Given the description of an element on the screen output the (x, y) to click on. 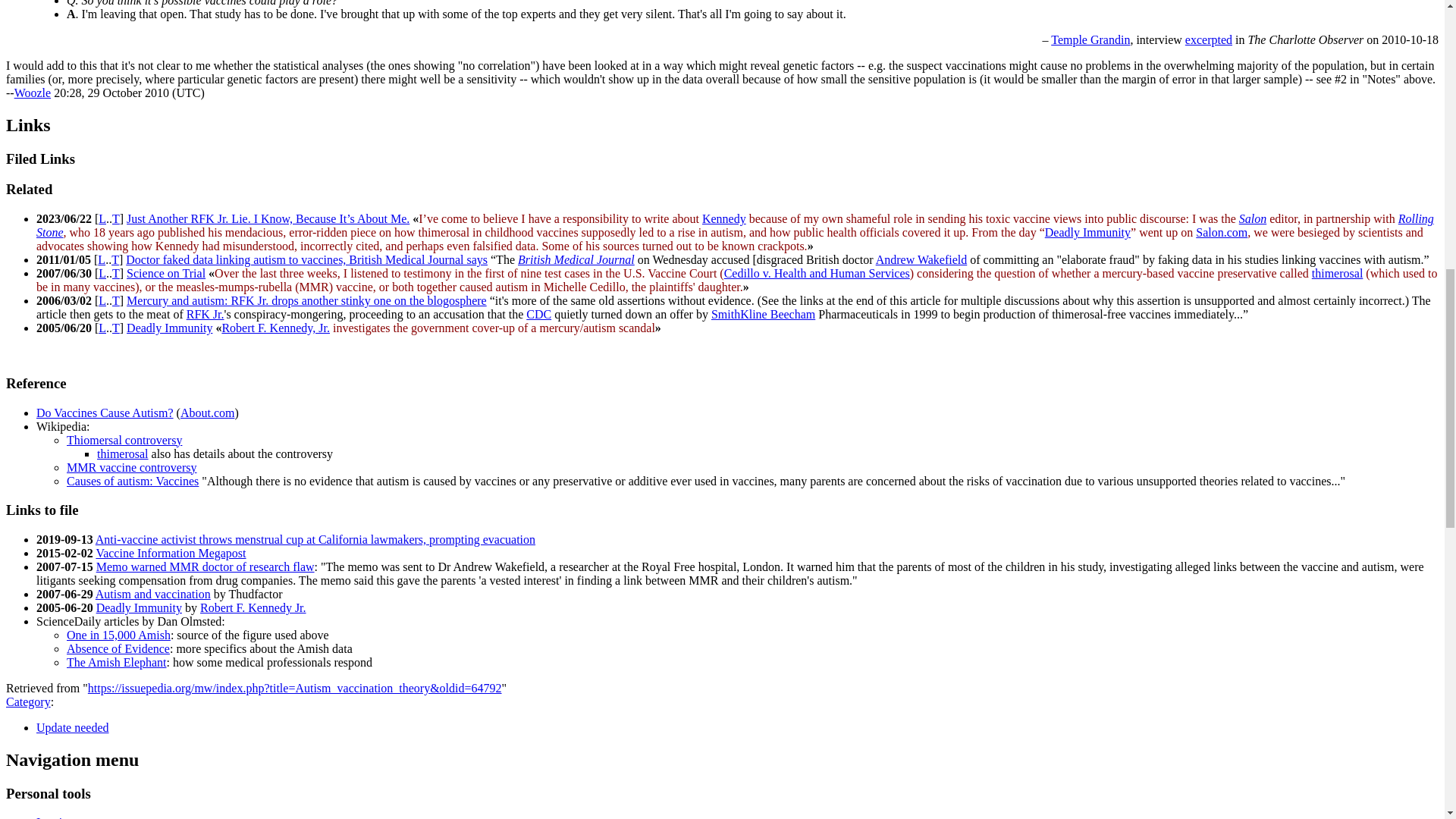
Andrew Wakefield (922, 259)
User:Woozle (32, 92)
L (102, 273)
Kennedy (723, 218)
excerpted (1208, 39)
linking vaccines with autism (1351, 259)
L (102, 218)
Salon.com (1221, 232)
T (115, 218)
Robert F. Kennedy, Jr. (723, 218)
T (115, 273)
Salon (1252, 218)
L (100, 259)
Woozle (32, 92)
